Given the description of an element on the screen output the (x, y) to click on. 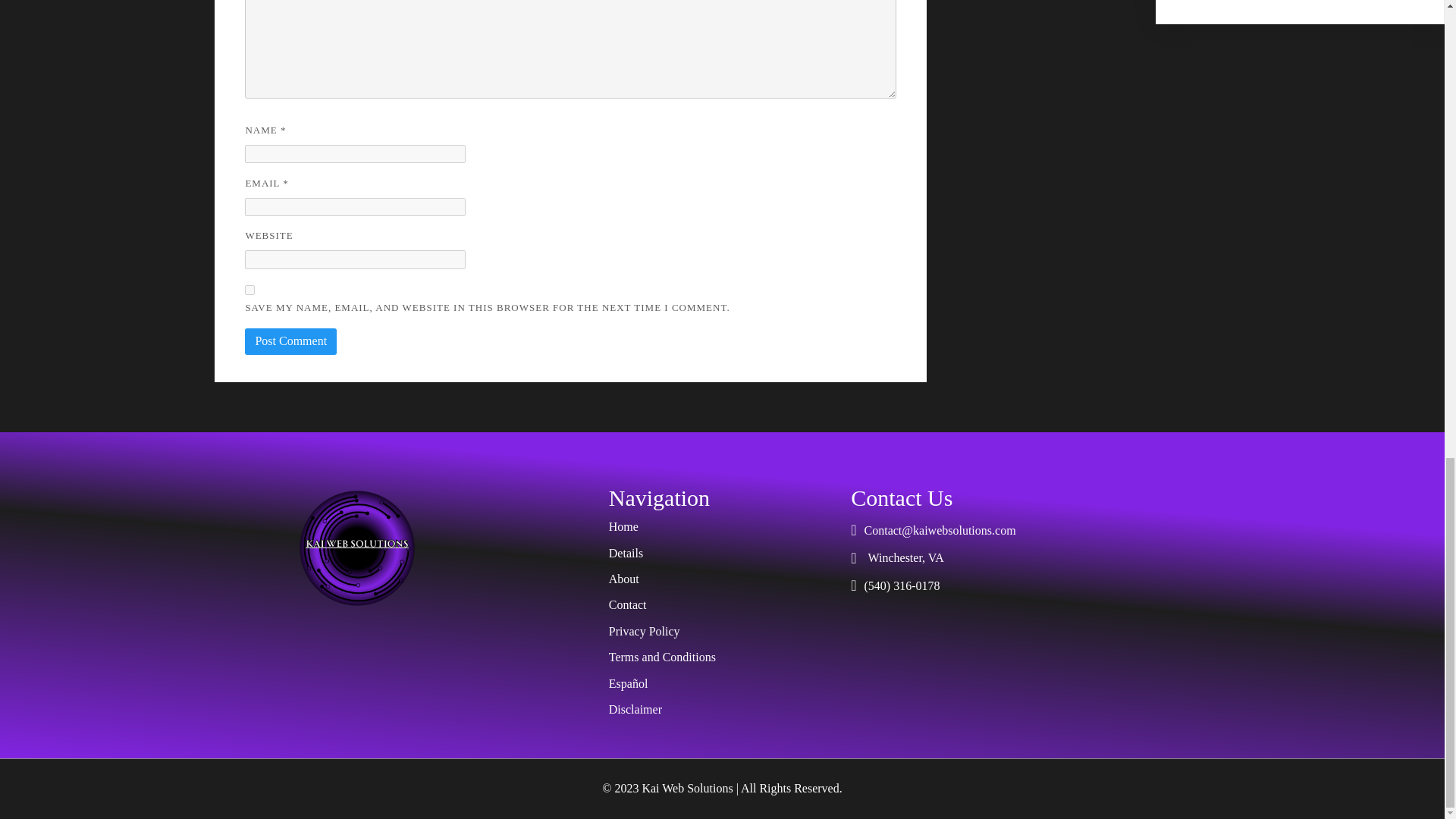
Post Comment (290, 340)
Post Comment (290, 340)
Details (721, 553)
KWS New Logo no background (357, 547)
Home (721, 526)
yes (249, 289)
